Given the description of an element on the screen output the (x, y) to click on. 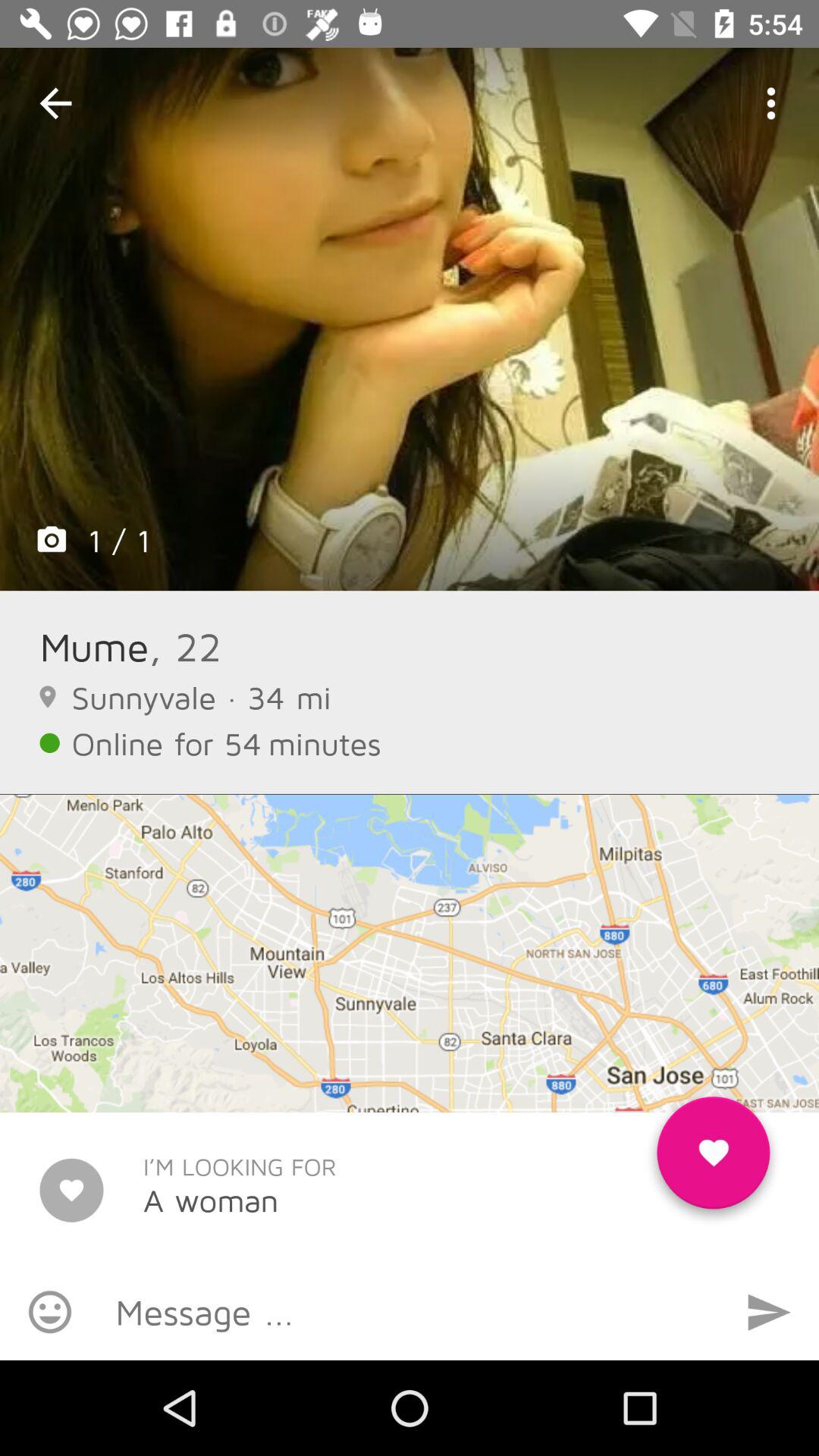
like the woman (713, 1158)
